Given the description of an element on the screen output the (x, y) to click on. 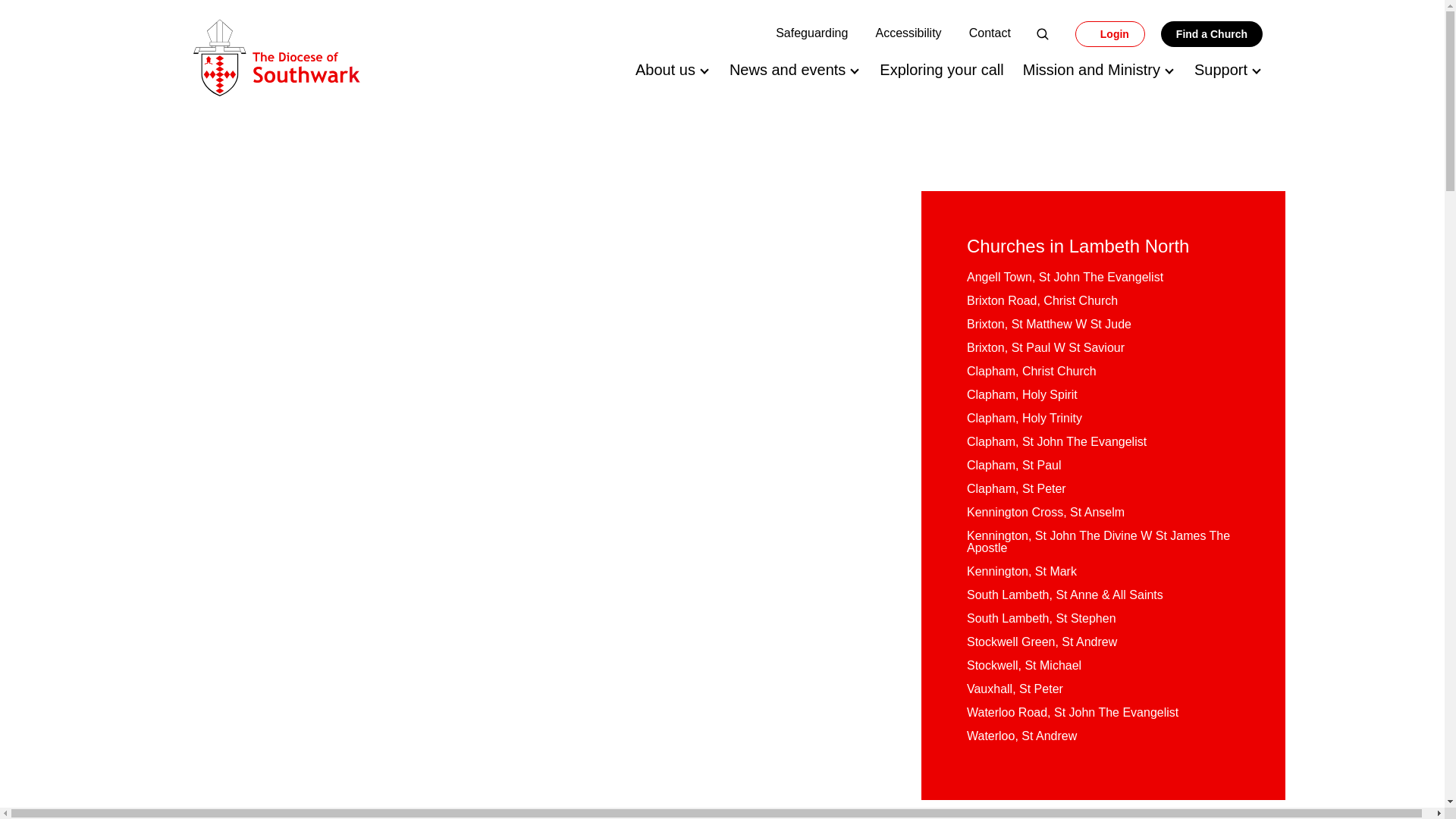
The Diocese of Southwark (276, 57)
Find a Church (1211, 33)
Login (1109, 33)
Accessibility (907, 32)
About us (664, 69)
Safeguarding (811, 32)
Contact (989, 32)
Exploring your call (941, 69)
Support (1220, 69)
